Given the description of an element on the screen output the (x, y) to click on. 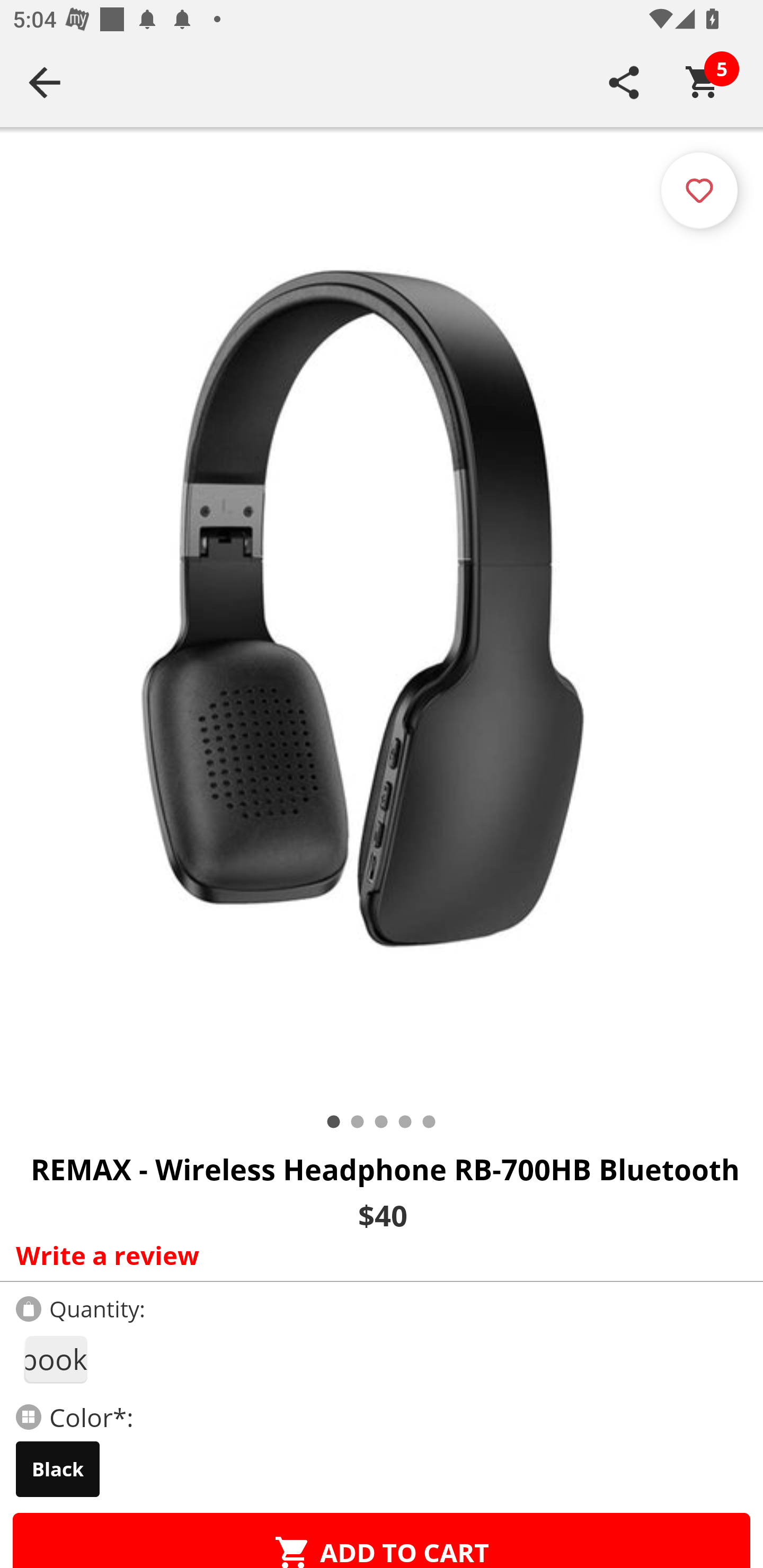
Navigate up (44, 82)
SHARE (623, 82)
Cart (703, 81)
Write a review (377, 1255)
1coffeechocolatenotebook (55, 1358)
Black (57, 1468)
ADD TO CART (381, 1540)
